Given the description of an element on the screen output the (x, y) to click on. 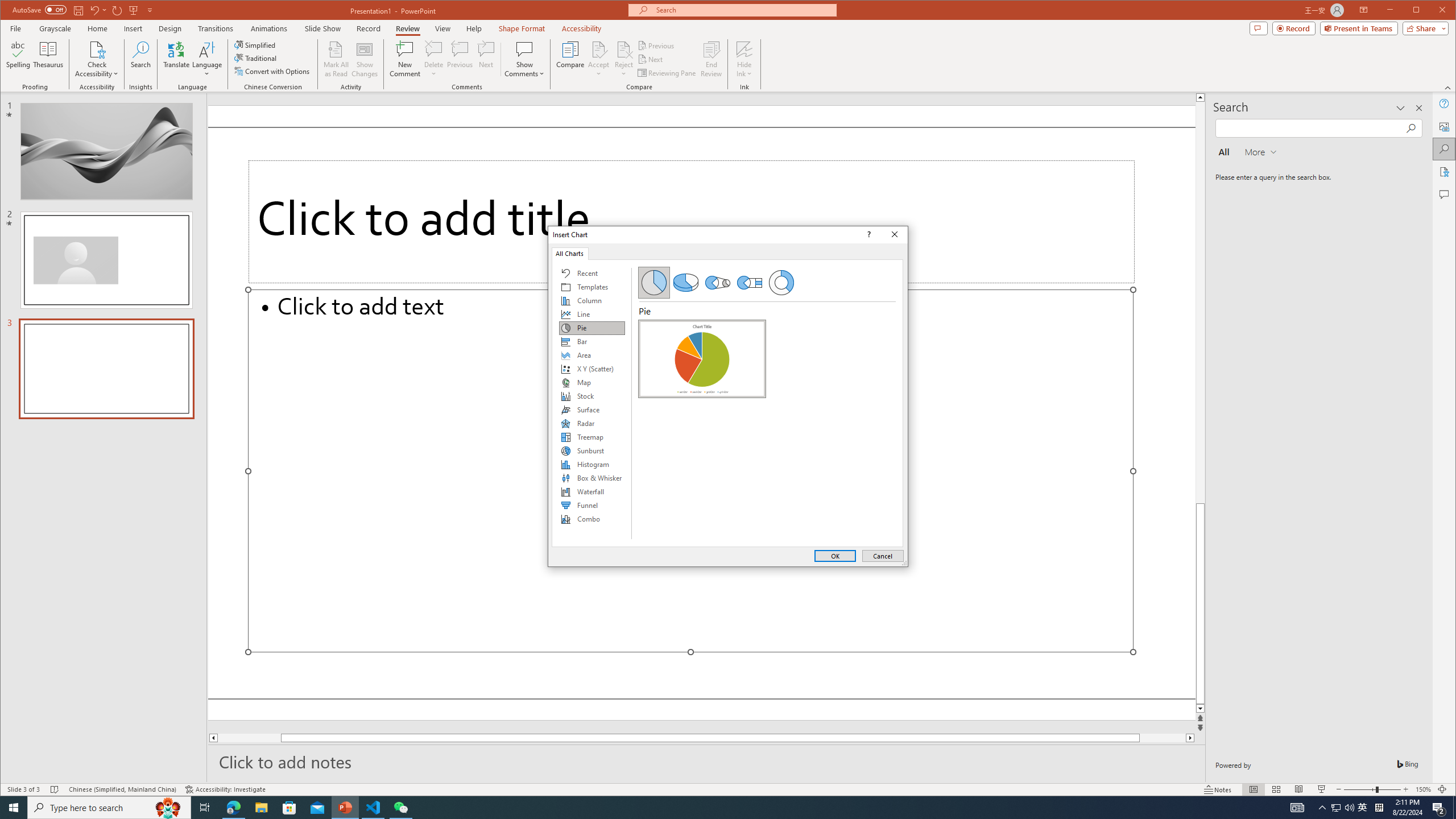
Microsoft Store (289, 807)
Pie of Pie (717, 282)
Accept (598, 59)
Search highlights icon opens search home window (167, 807)
Stock (591, 395)
Histogram (591, 464)
Pie (701, 358)
Running applications (707, 807)
